Given the description of an element on the screen output the (x, y) to click on. 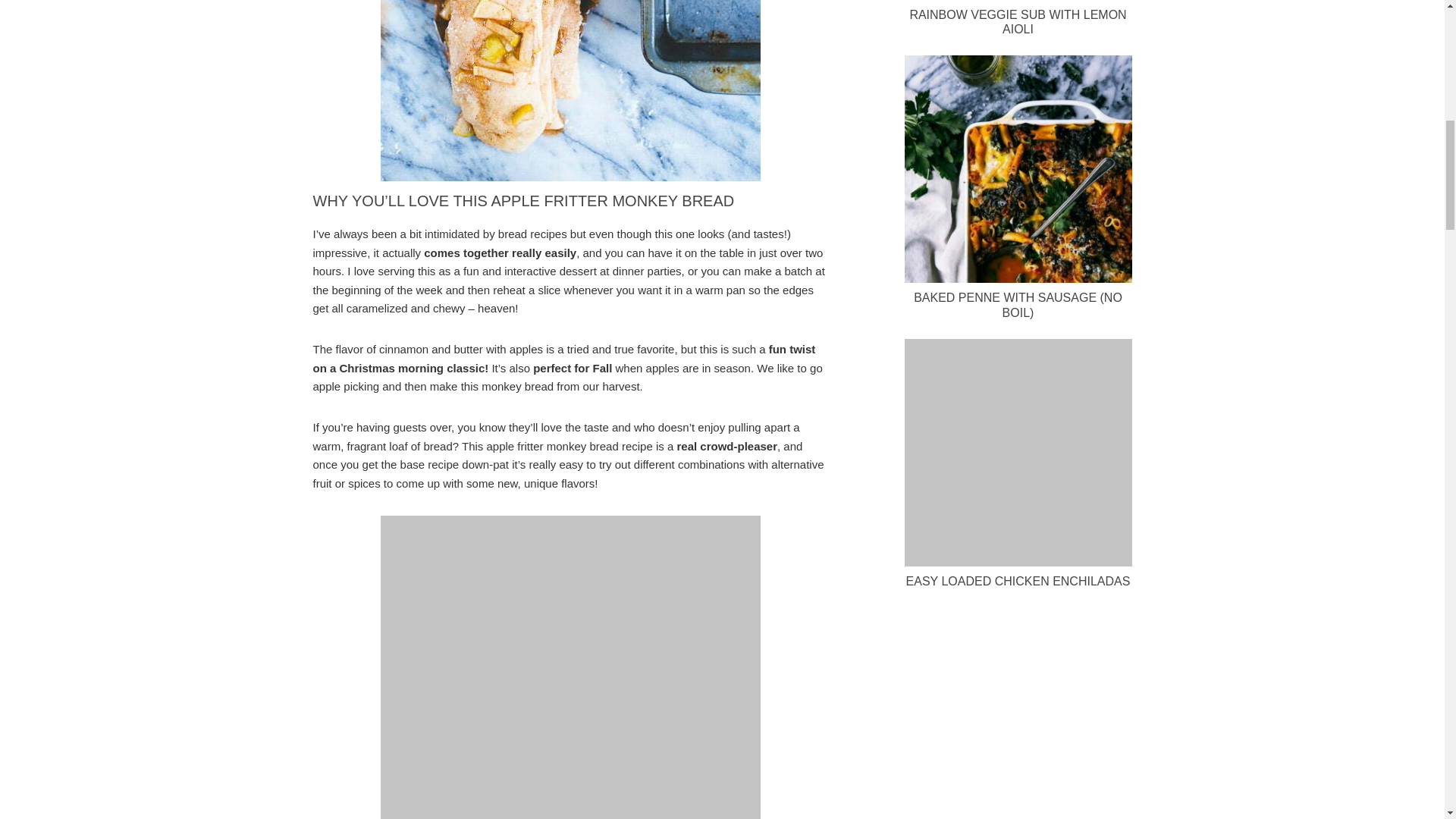
RAINBOW VEGGIE SUB WITH LEMON AIOLI (1016, 22)
Easy Loaded Chicken Enchiladas (1017, 452)
